Given the description of an element on the screen output the (x, y) to click on. 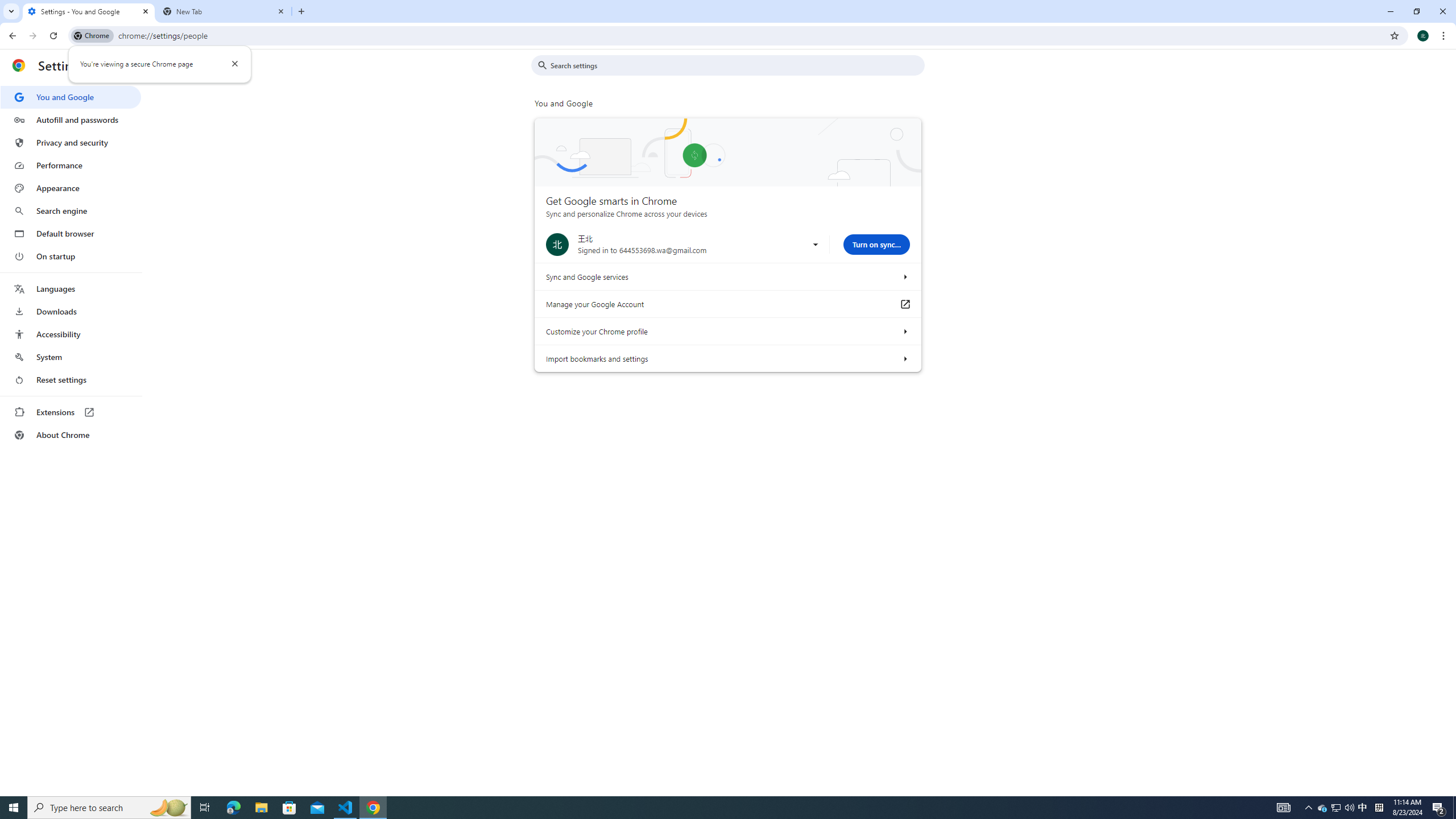
Autofill and passwords (70, 119)
AutomationID: 4105 (1283, 807)
Languages (70, 288)
Search settings (735, 65)
Search highlights icon opens search home window (167, 807)
Running applications (700, 807)
Import bookmarks and settings (904, 357)
Tray Input Indicator - Chinese (Simplified, China) (1322, 807)
Reset settings (1378, 807)
Accessibility (70, 379)
Manage your Google Account (1362, 807)
